Given the description of an element on the screen output the (x, y) to click on. 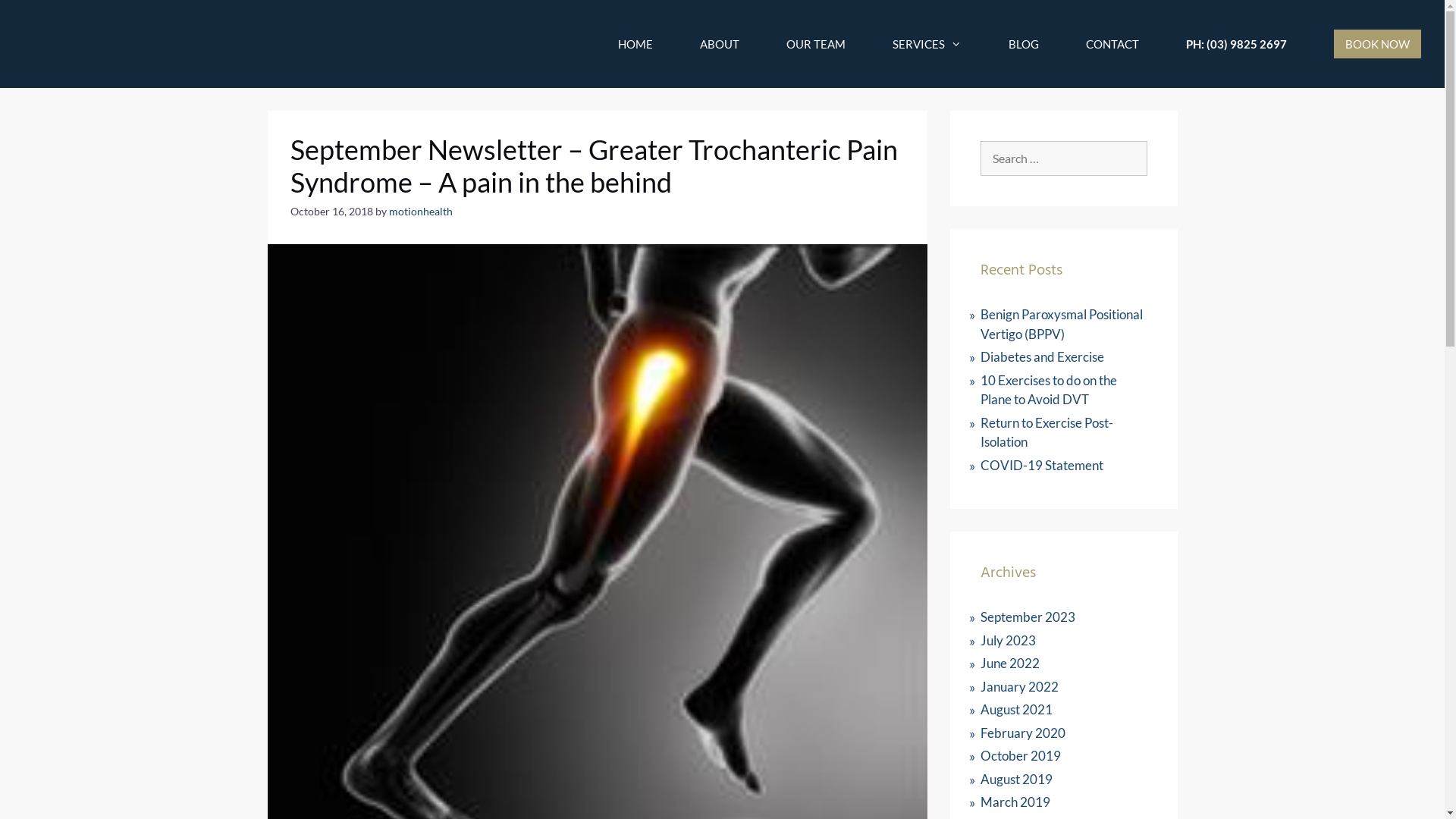
ABOUT Element type: text (719, 43)
Search Element type: text (33, 17)
COVID-19 Statement Element type: text (1040, 464)
Benign Paroxysmal Positional Vertigo (BPPV) Element type: text (1060, 324)
OUR TEAM Element type: text (815, 43)
SERVICES Element type: text (927, 43)
10 Exercises to do on the Plane to Avoid DVT Element type: text (1047, 389)
August 2019 Element type: text (1015, 778)
July 2023 Element type: text (1007, 640)
HOME Element type: text (635, 43)
BOOK NOW Element type: text (1377, 43)
March 2019 Element type: text (1014, 801)
September 2023 Element type: text (1026, 616)
BLOG Element type: text (1023, 43)
Diabetes and Exercise Element type: text (1041, 356)
June 2022 Element type: text (1008, 663)
January 2022 Element type: text (1018, 685)
Return to Exercise Post-Isolation Element type: text (1045, 431)
CONTACT Element type: text (1112, 43)
motionhealth Element type: text (419, 211)
August 2021 Element type: text (1015, 709)
October 2019 Element type: text (1019, 755)
PH: (03) 9825 2697 Element type: text (1236, 43)
February 2020 Element type: text (1021, 732)
Search for: Element type: hover (1062, 158)
